Given the description of an element on the screen output the (x, y) to click on. 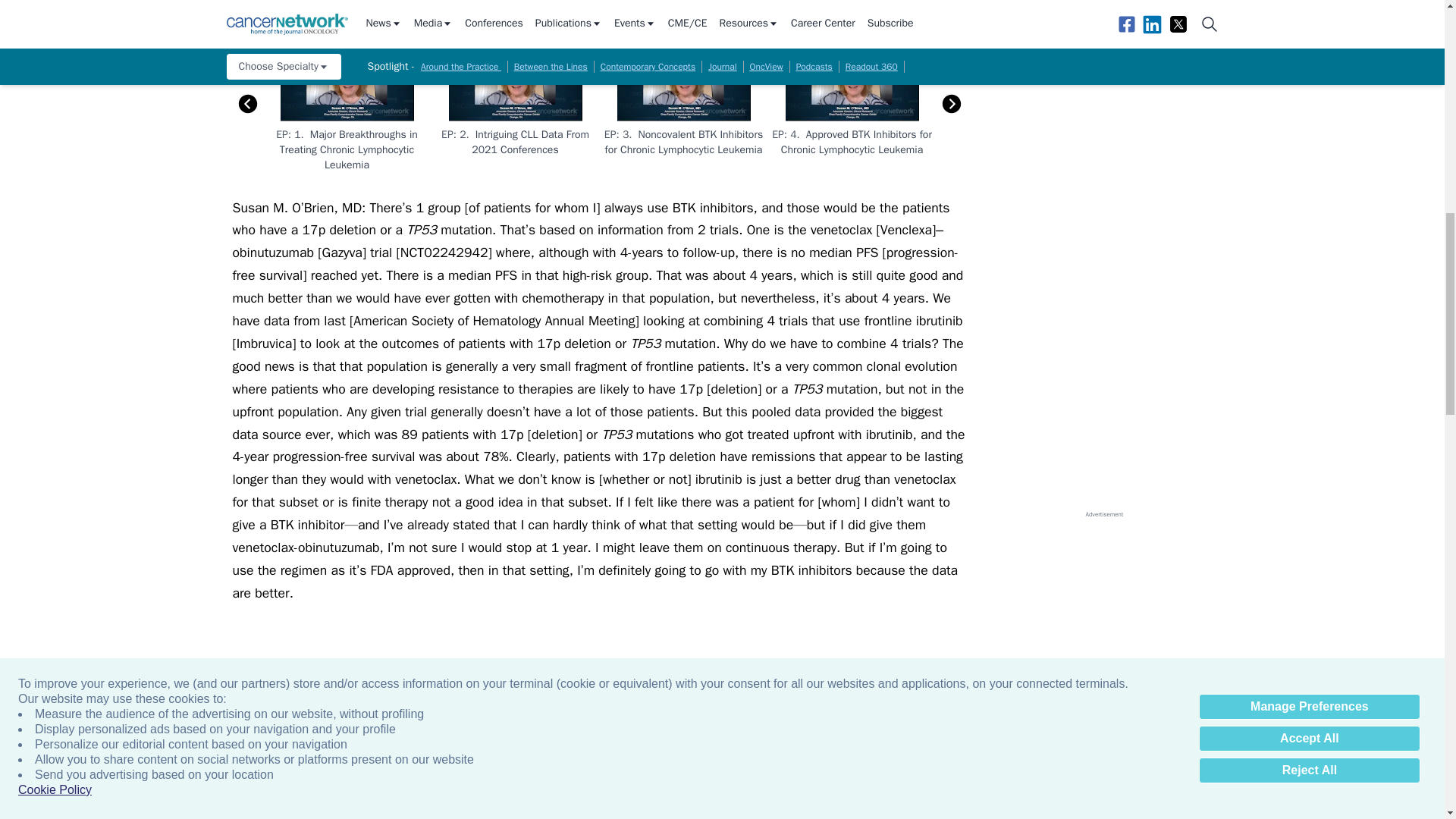
Play (246, 11)
Fullscreen (951, 11)
Mute (277, 11)
Advertisement (598, 11)
